Given the description of an element on the screen output the (x, y) to click on. 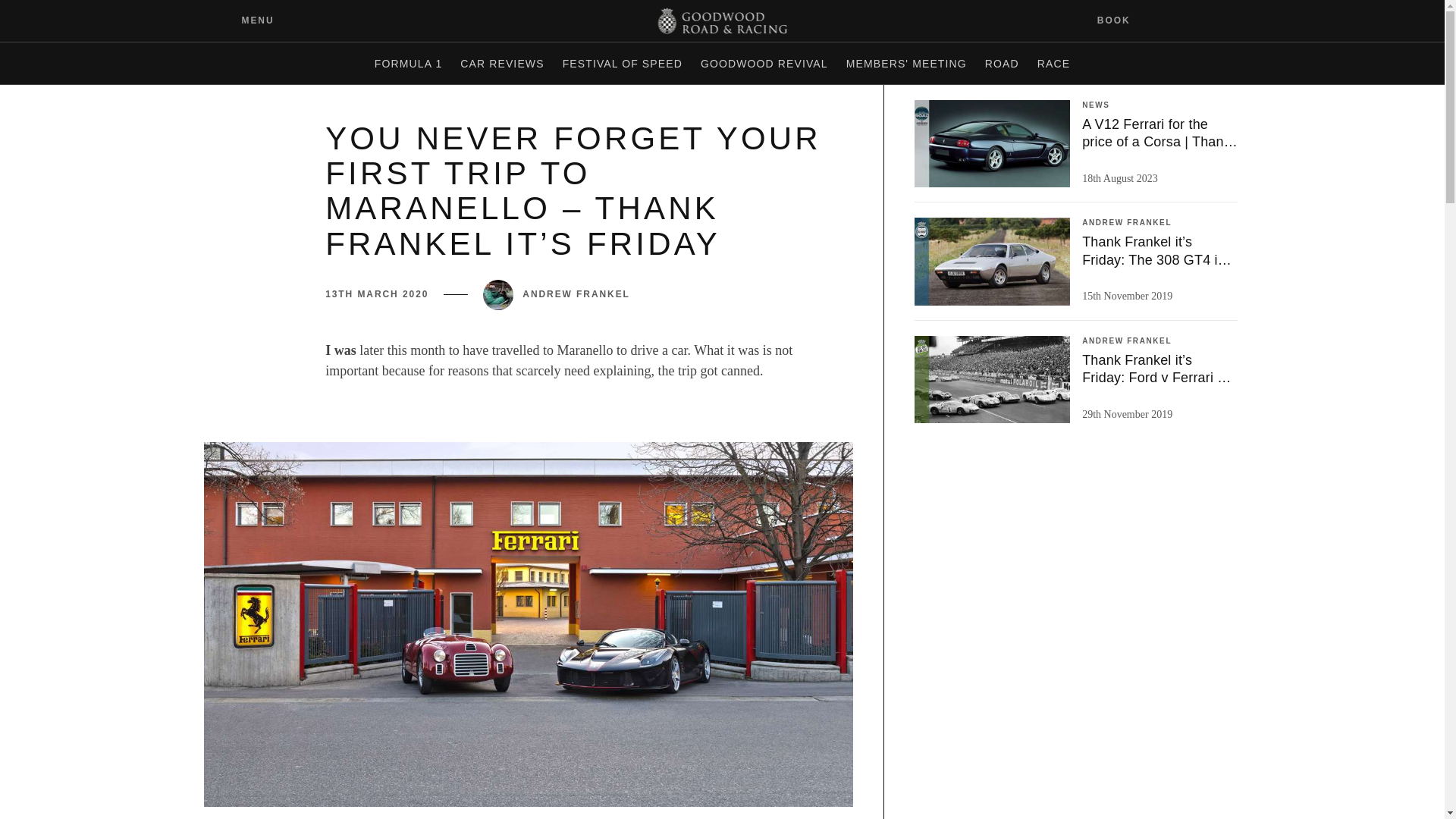
BOOK (1122, 20)
MEMBERS' MEETING (906, 63)
ROAD (1001, 63)
FESTIVAL OF SPEED (622, 63)
RACE (1053, 63)
MENU (246, 20)
GOODWOOD REVIVAL (764, 63)
CAR REVIEWS (502, 63)
FORMULA 1 (408, 63)
